Given the description of an element on the screen output the (x, y) to click on. 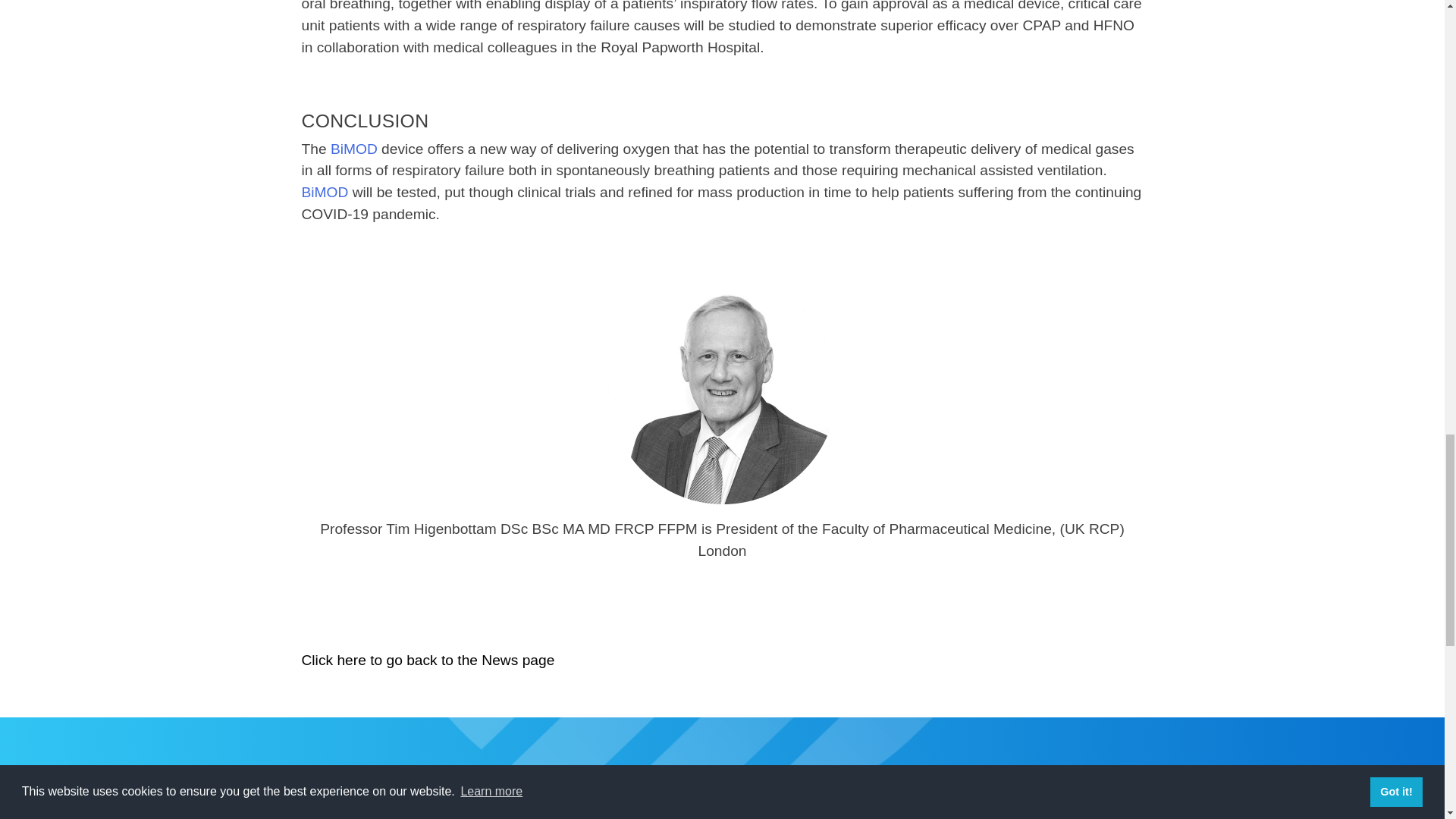
BiMOD (353, 148)
Click here to go back to the News page (427, 659)
BiMOD (325, 191)
